Given the description of an element on the screen output the (x, y) to click on. 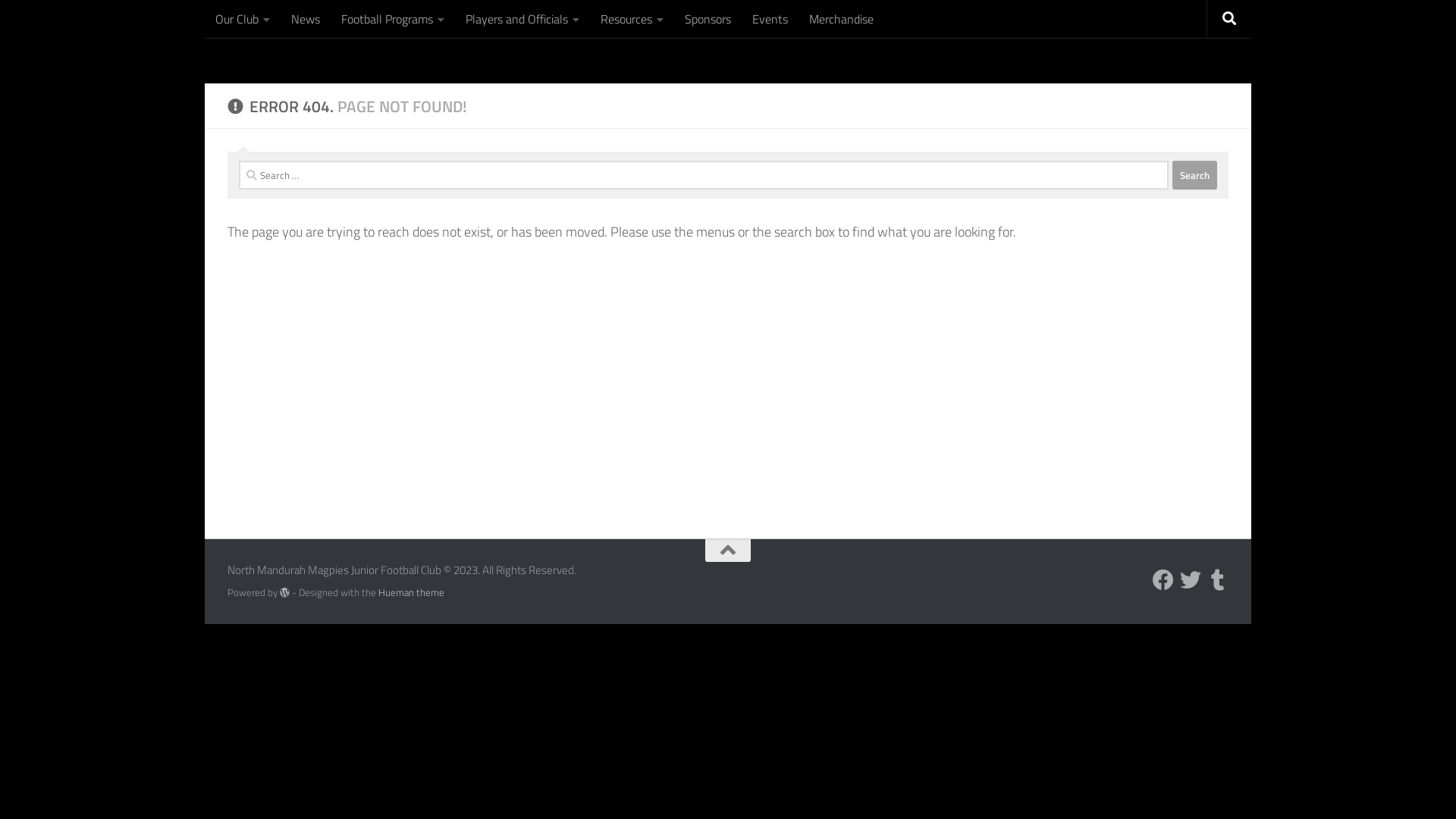
Skip to content Element type: text (264, 23)
Follow us on Twitter Element type: hover (1190, 579)
Follow us on Facebook Element type: hover (1162, 579)
Follow us on TeamApp Element type: hover (1217, 579)
News Element type: text (305, 18)
Merchandise Element type: text (841, 18)
Search Element type: text (1194, 174)
Sponsors Element type: text (707, 18)
Our Club Element type: text (242, 18)
Resources Element type: text (631, 18)
Football Programs Element type: text (392, 18)
Powered by WordPress Element type: hover (284, 592)
Events Element type: text (769, 18)
Players and Officials Element type: text (522, 18)
Hueman theme Element type: text (411, 591)
